Given the description of an element on the screen output the (x, y) to click on. 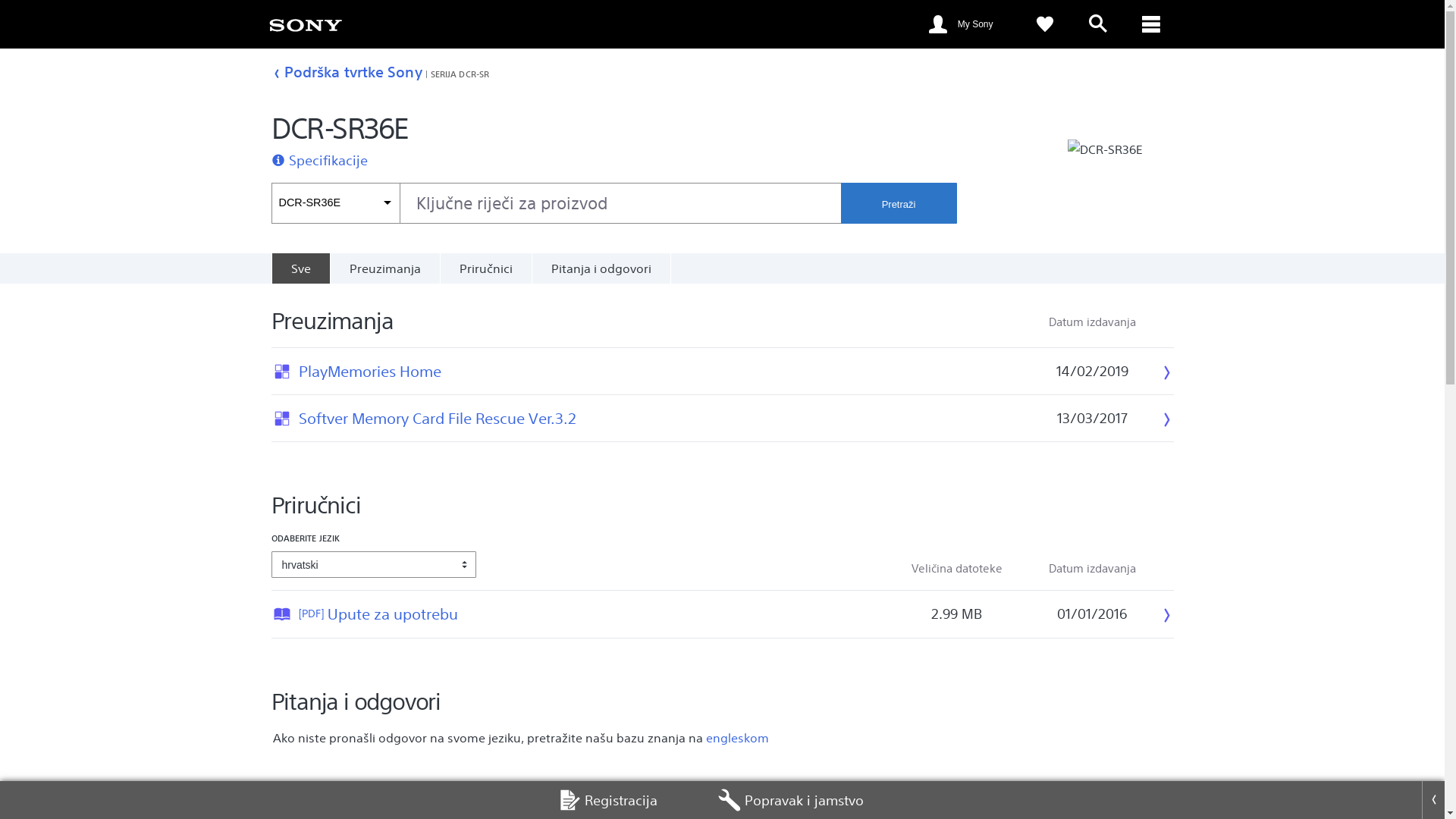
Sve Element type: text (300, 268)
Registracija Element type: text (607, 799)
My Sony Element type: text (965, 24)
Preuzimanja Element type: text (384, 268)
SERIJA DCR-SR Element type: text (459, 73)
engleskom Element type: text (736, 737)
Pitanja i odgovori Element type: text (600, 268)
Specifikacije Element type: text (327, 159)
DCR-SR36E Element type: text (335, 202)
hrvatski Element type: text (373, 564)
[PDF]Upute za upotrebu
Datum izdavanja: 01/01/2016 Element type: text (589, 613)
PlayMemories Home
Datum izdavanja: 14/02/2019 Element type: text (657, 371)
